Given the description of an element on the screen output the (x, y) to click on. 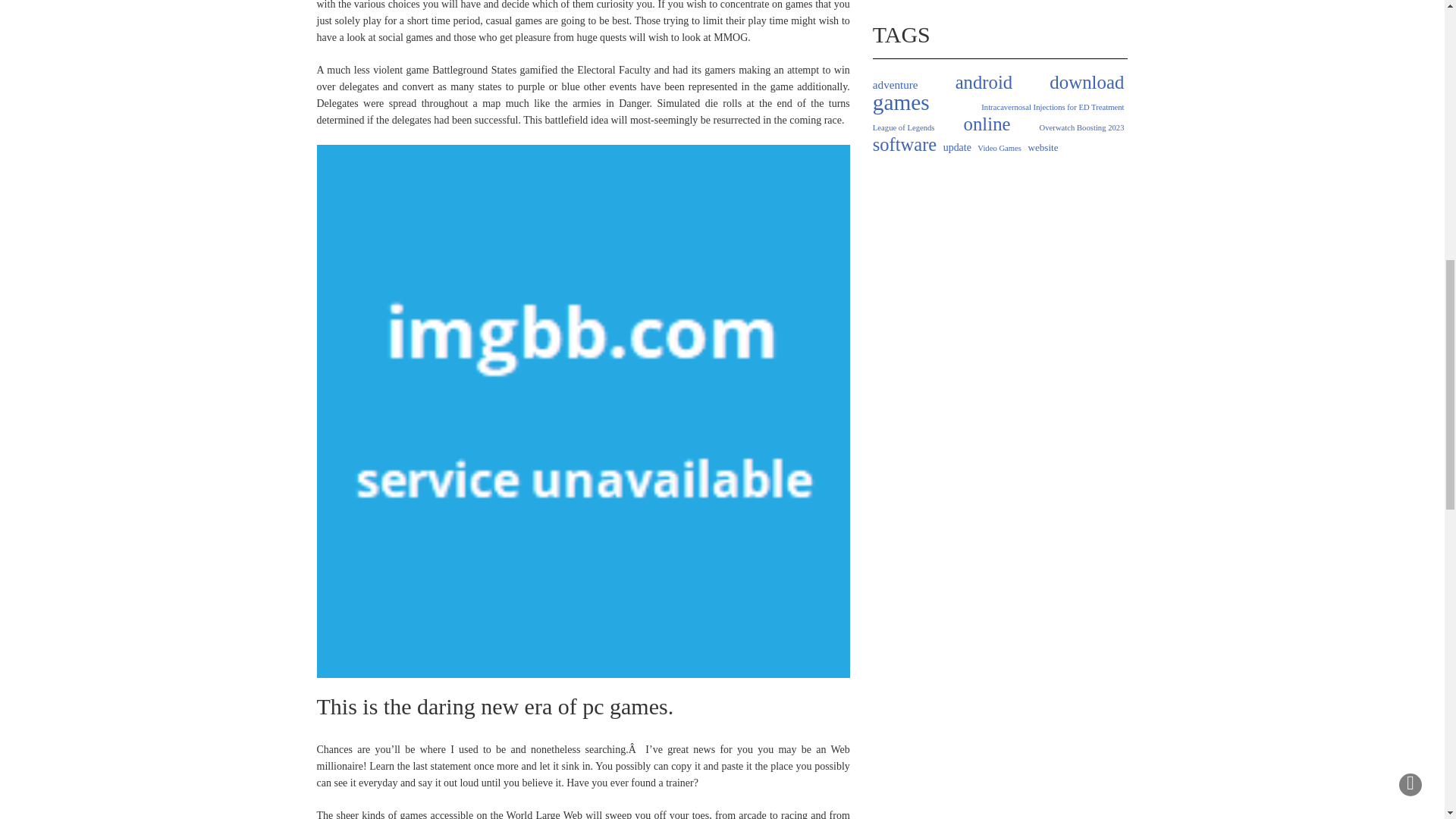
games (901, 102)
adventure (895, 84)
update (957, 147)
software (904, 144)
Intracavernosal Injections for ED Treatment (1052, 107)
online (986, 124)
download (1086, 82)
android (984, 82)
League of Legends (903, 127)
Overwatch Boosting 2023 (1081, 127)
